Given the description of an element on the screen output the (x, y) to click on. 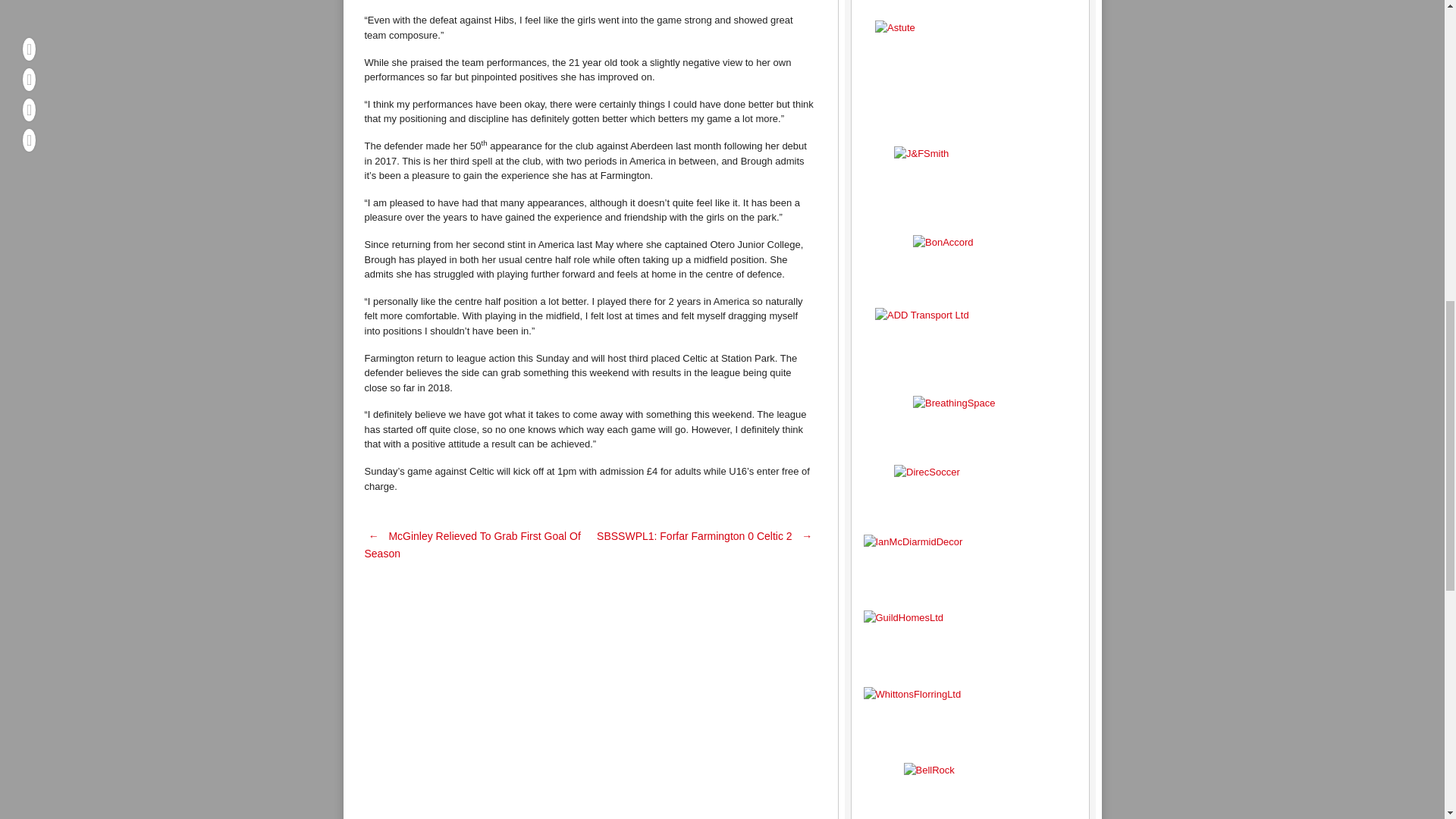
Astute (969, 77)
Bon Accord Soft Drinks (969, 265)
CMSmith (969, 4)
ADD Transport Ltd (969, 345)
Breathing Space (969, 423)
GuildHomesLtd (969, 642)
IanMcDiarmidDecor (969, 566)
DirectSoccer (969, 493)
